Given the description of an element on the screen output the (x, y) to click on. 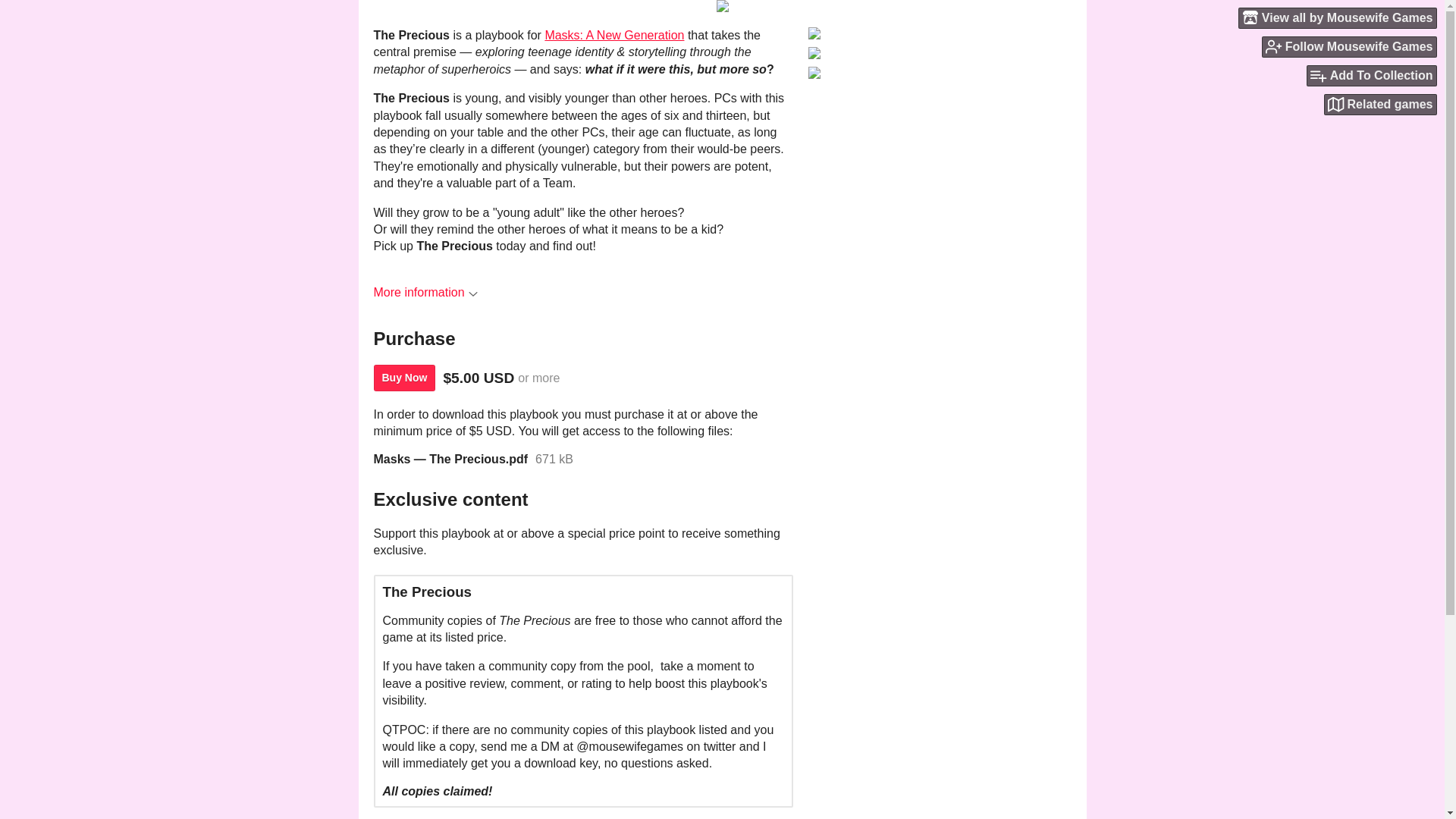
Related games (1380, 104)
Buy Now (403, 377)
View all by Mousewife Games (1338, 17)
More information (424, 291)
Add To Collection (1371, 75)
Follow Mousewife Games (1349, 46)
Masks: A New Generation (614, 34)
